Given the description of an element on the screen output the (x, y) to click on. 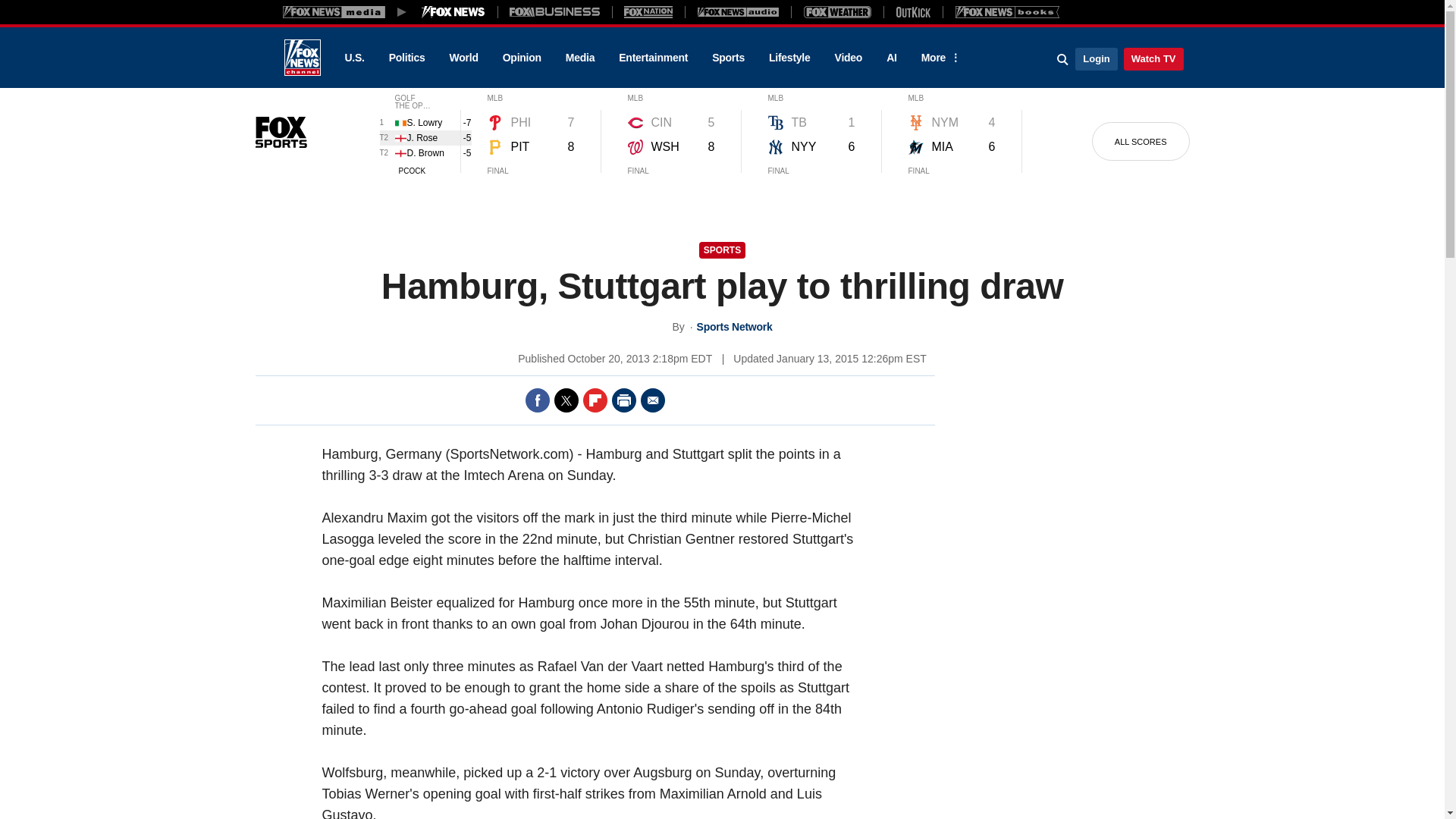
Outkick (912, 11)
U.S. (353, 57)
Fox Business (554, 11)
Login (1095, 58)
Video (848, 57)
Fox Weather (836, 11)
Media (580, 57)
Entertainment (653, 57)
Fox News Audio (737, 11)
Watch TV (1153, 58)
Politics (407, 57)
Books (1007, 11)
Sports (728, 57)
Fox News (301, 57)
AI (891, 57)
